Given the description of an element on the screen output the (x, y) to click on. 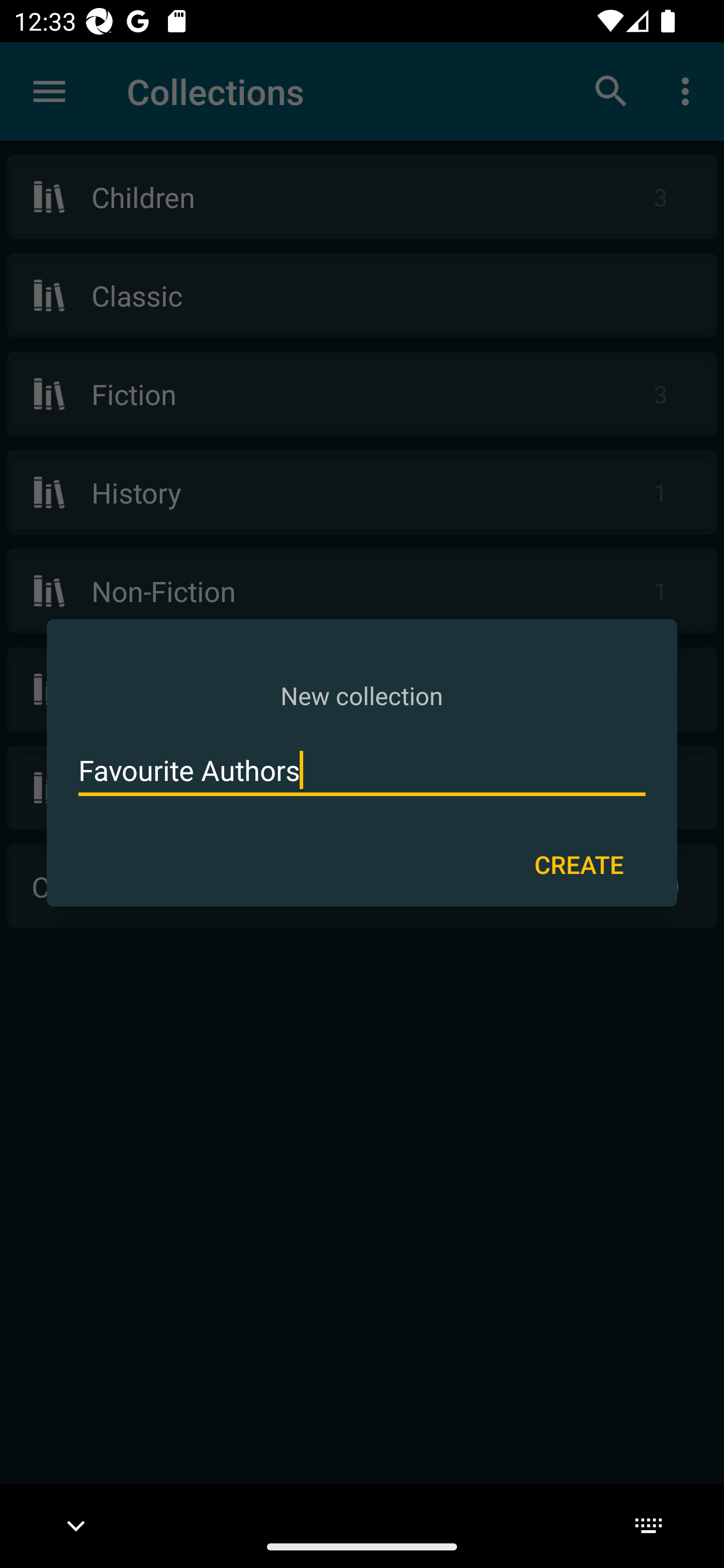
Favourite Authors (361, 770)
CREATE (578, 863)
